Given the description of an element on the screen output the (x, y) to click on. 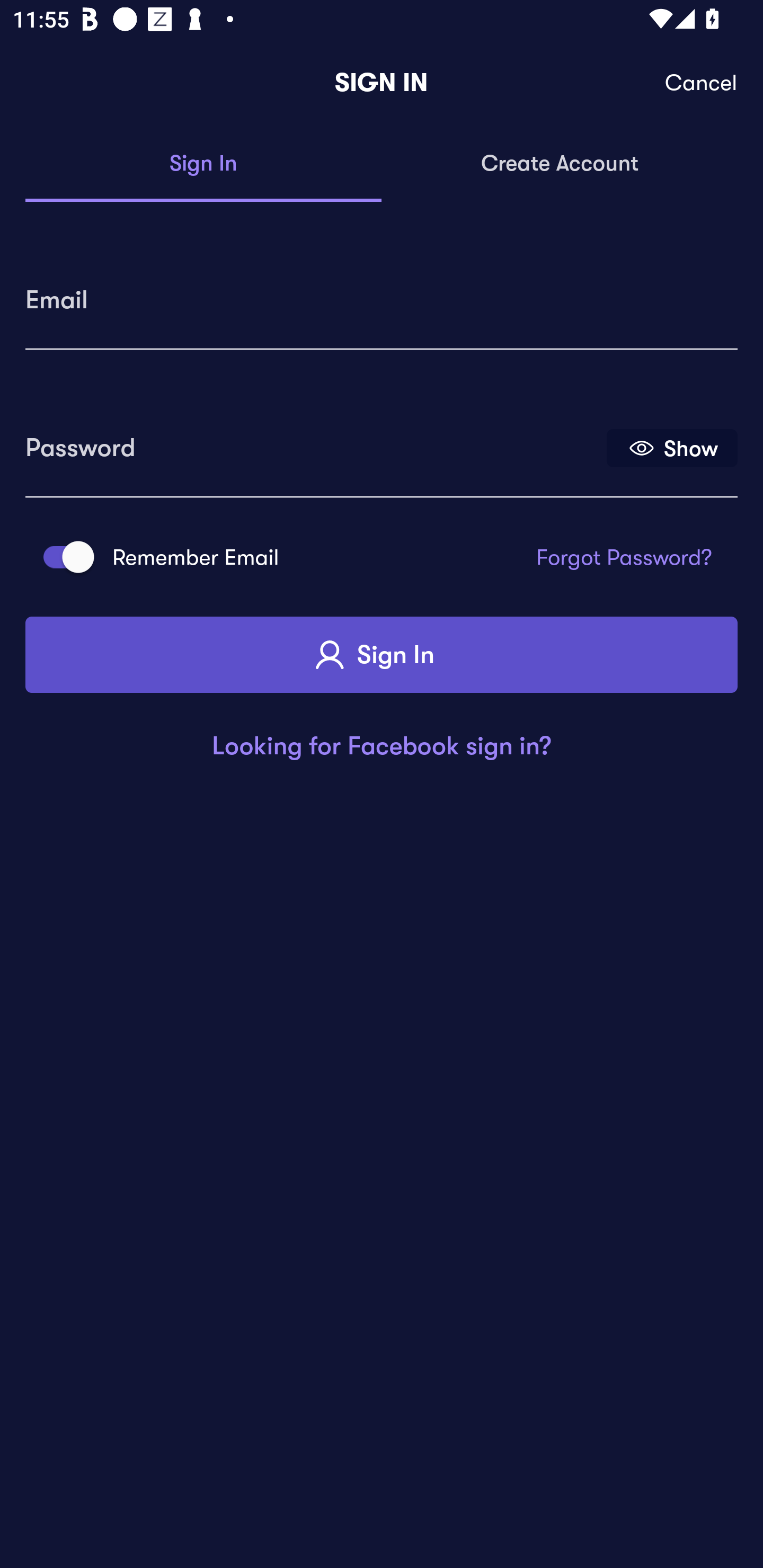
Cancel (701, 82)
Sign In (203, 164)
Create Account (559, 164)
Email (381, 293)
Password (314, 441)
Show Password Show (671, 447)
Remember Email (62, 557)
Sign In (381, 654)
